Given the description of an element on the screen output the (x, y) to click on. 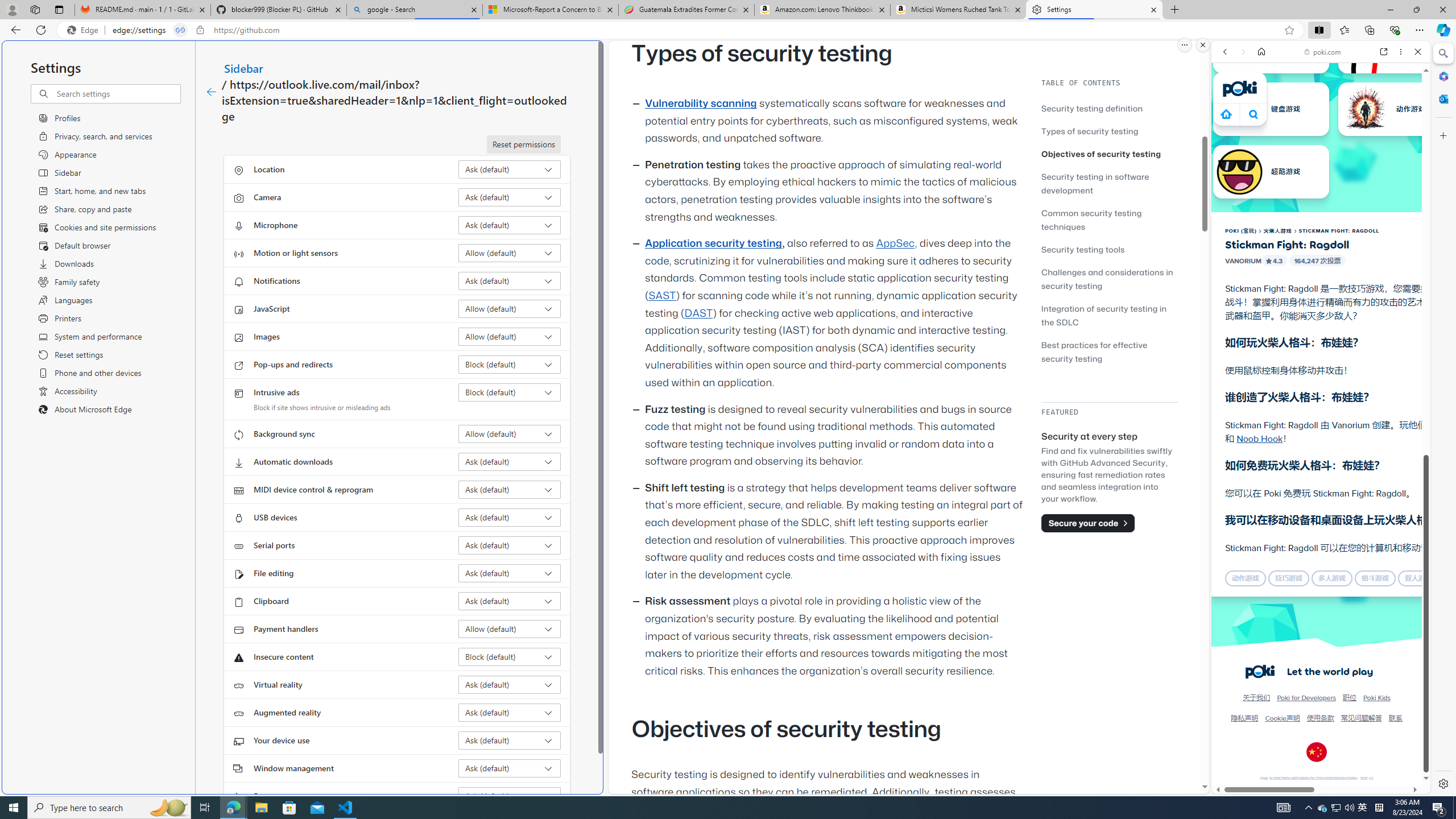
Reset permissions (523, 144)
Security testing tools (1083, 248)
Class: aprWdaSScyiJf4Jvmsx9 (1225, 113)
DAST (698, 312)
File editing Ask (default) (509, 573)
Sports Games (1320, 378)
Intrusive ads Block (default) (509, 392)
Combat Reloaded (1348, 574)
Hills of Steel Hills of Steel poki.com (1264, 548)
China (1316, 752)
STICKMAN FIGHT: RAGDOLL (1339, 230)
